Given the description of an element on the screen output the (x, y) to click on. 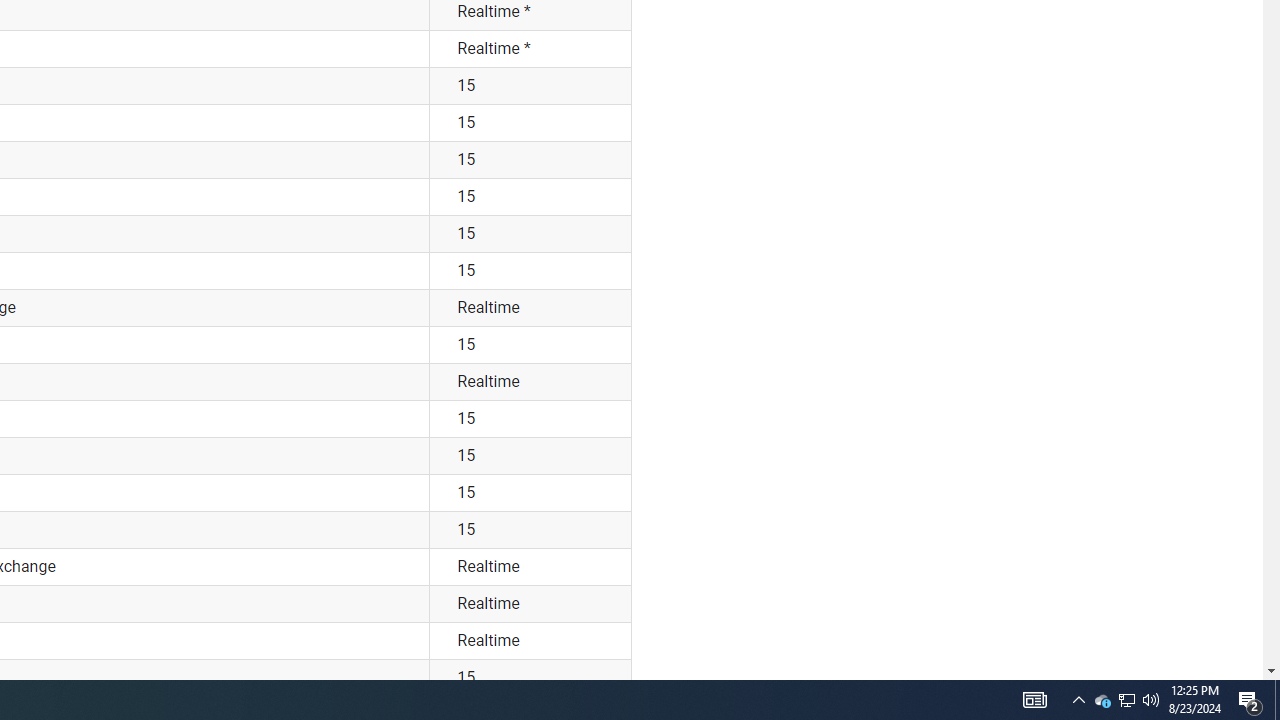
Realtime (529, 641)
15 (529, 677)
Realtime * (529, 48)
